Given the description of an element on the screen output the (x, y) to click on. 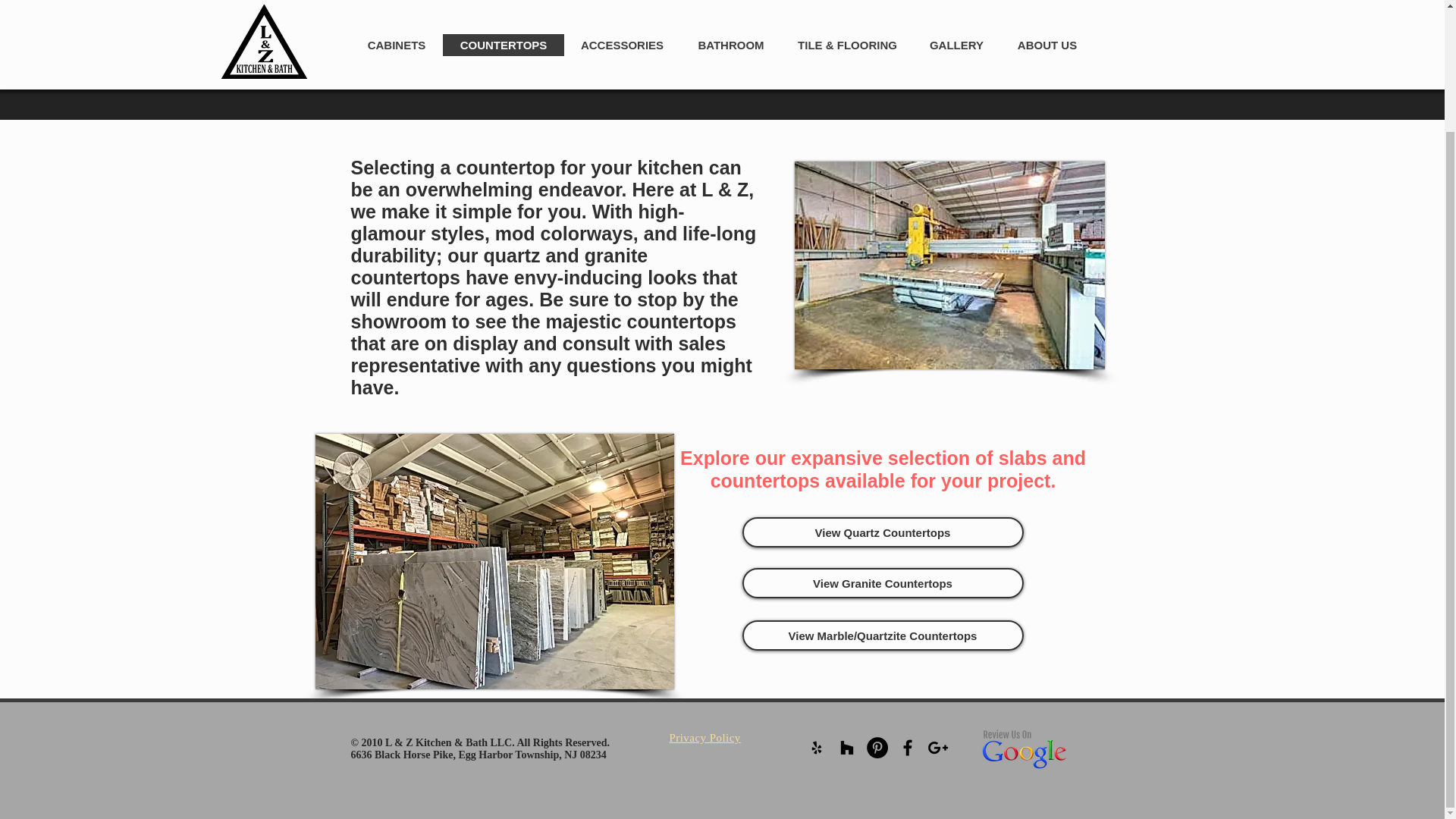
Privacy Policy (703, 737)
View Granite Countertops (882, 583)
View Quartz Countertops (882, 531)
